Given the description of an element on the screen output the (x, y) to click on. 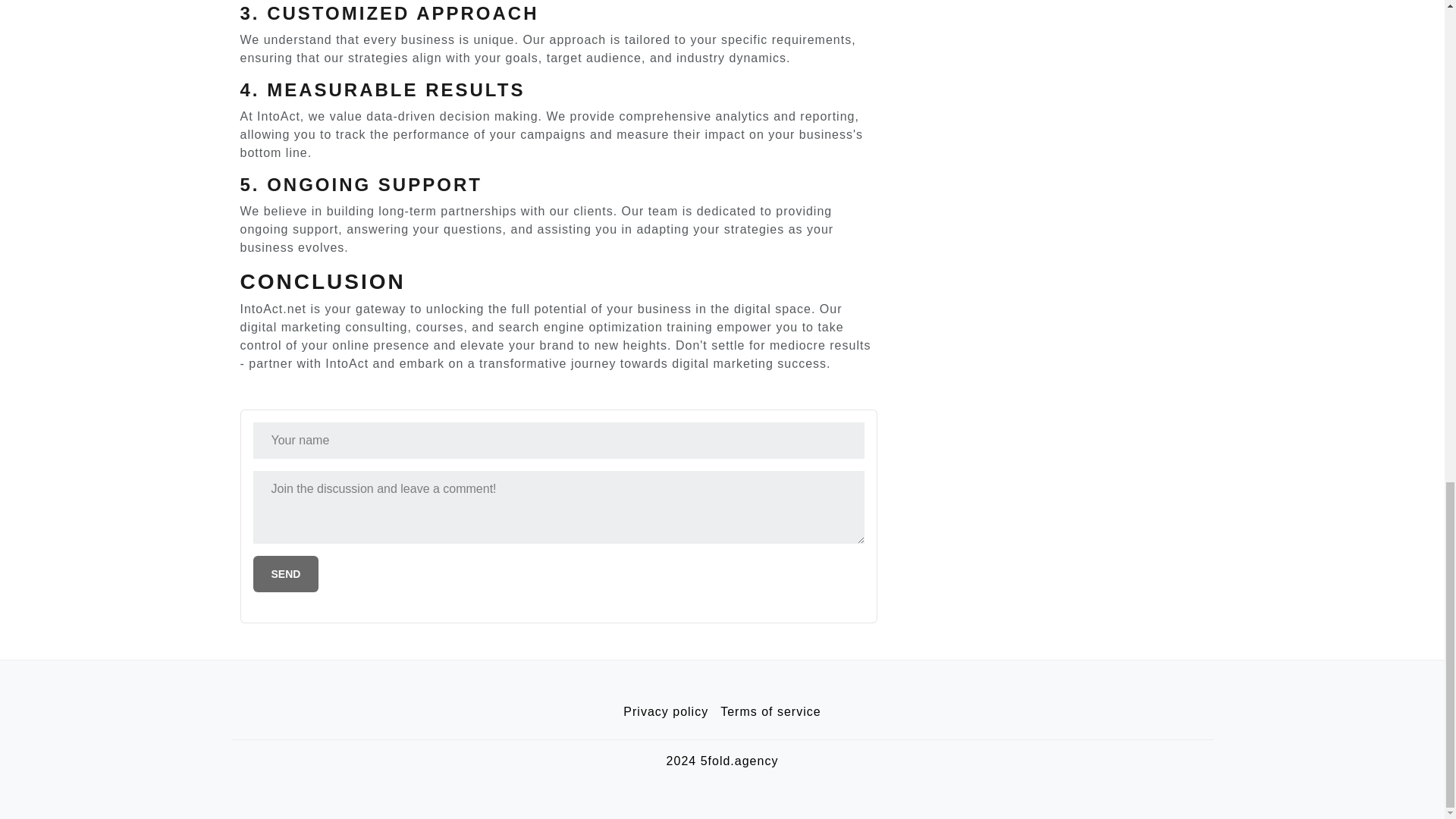
Send (285, 574)
Send (285, 574)
Terms of service (770, 711)
Privacy policy (665, 711)
